Given the description of an element on the screen output the (x, y) to click on. 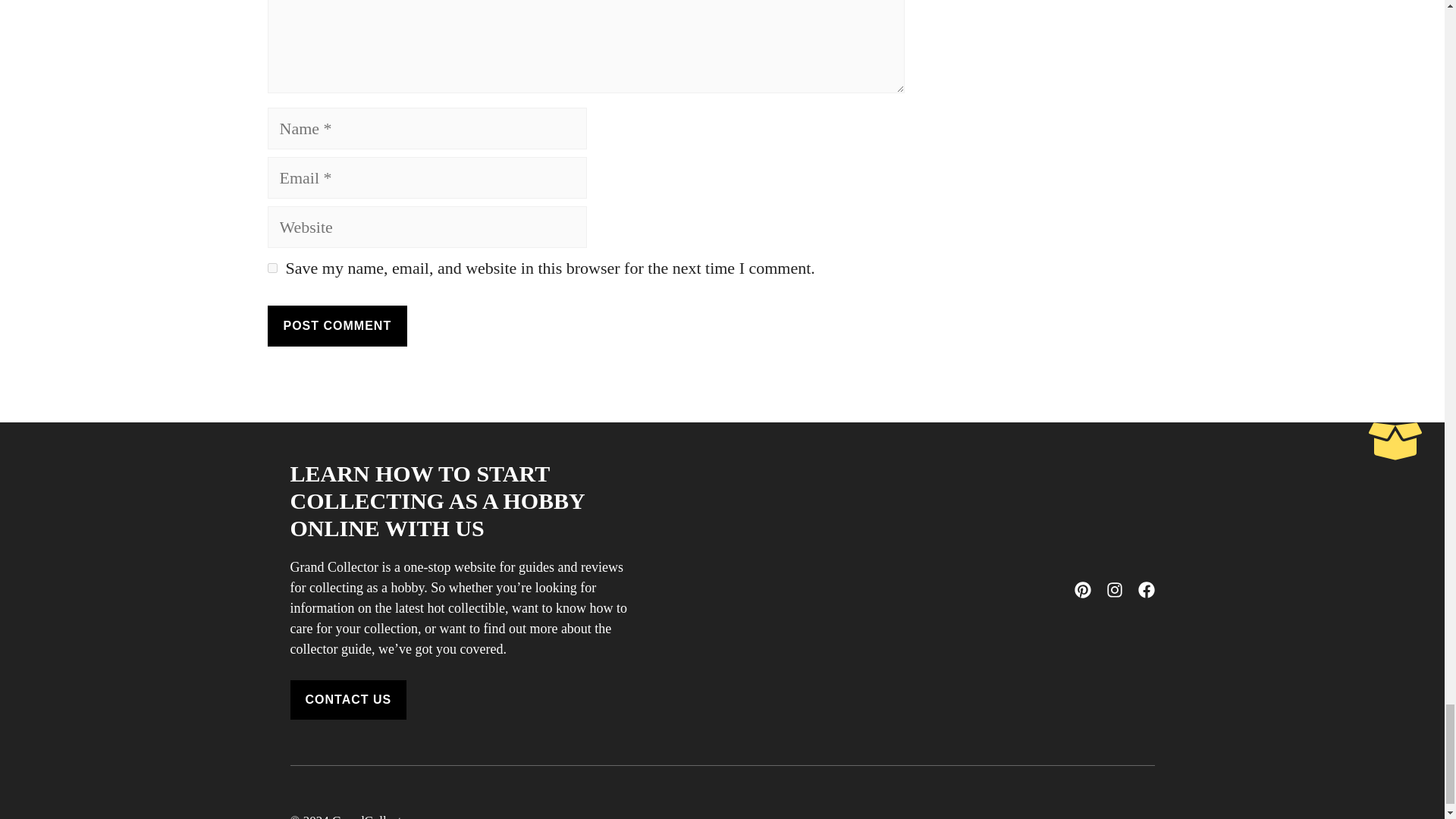
CONTACT US (347, 699)
yes (271, 267)
Post Comment (336, 325)
About (927, 817)
Post Comment (336, 325)
